Given the description of an element on the screen output the (x, y) to click on. 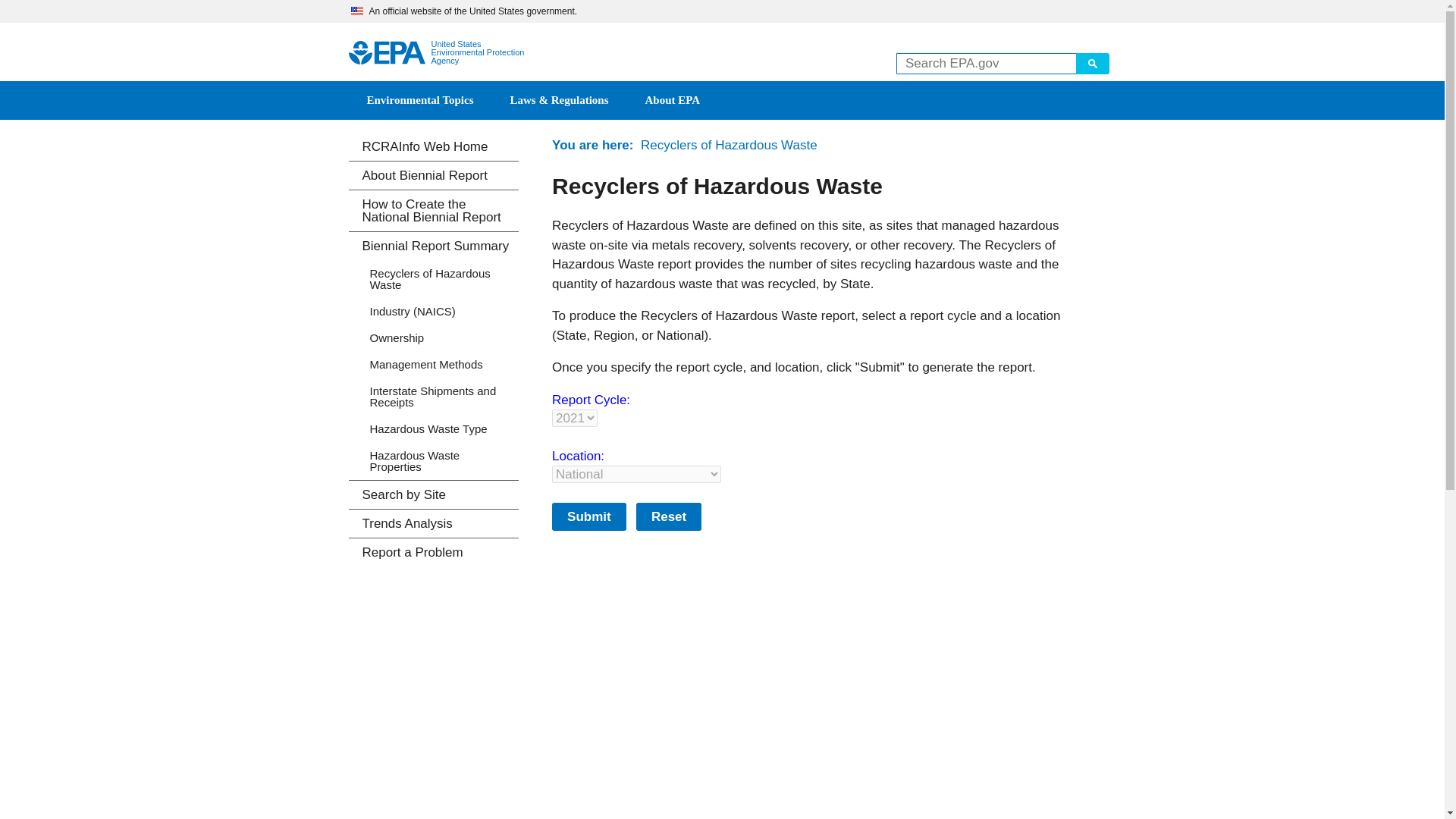
Go to the home page (387, 52)
Environmental Topics (420, 100)
Search (1091, 63)
About EPA (673, 100)
 Reset  (668, 516)
US EPA (387, 52)
Submit (588, 516)
Jump to main content (721, 11)
Search (1091, 63)
